Given the description of an element on the screen output the (x, y) to click on. 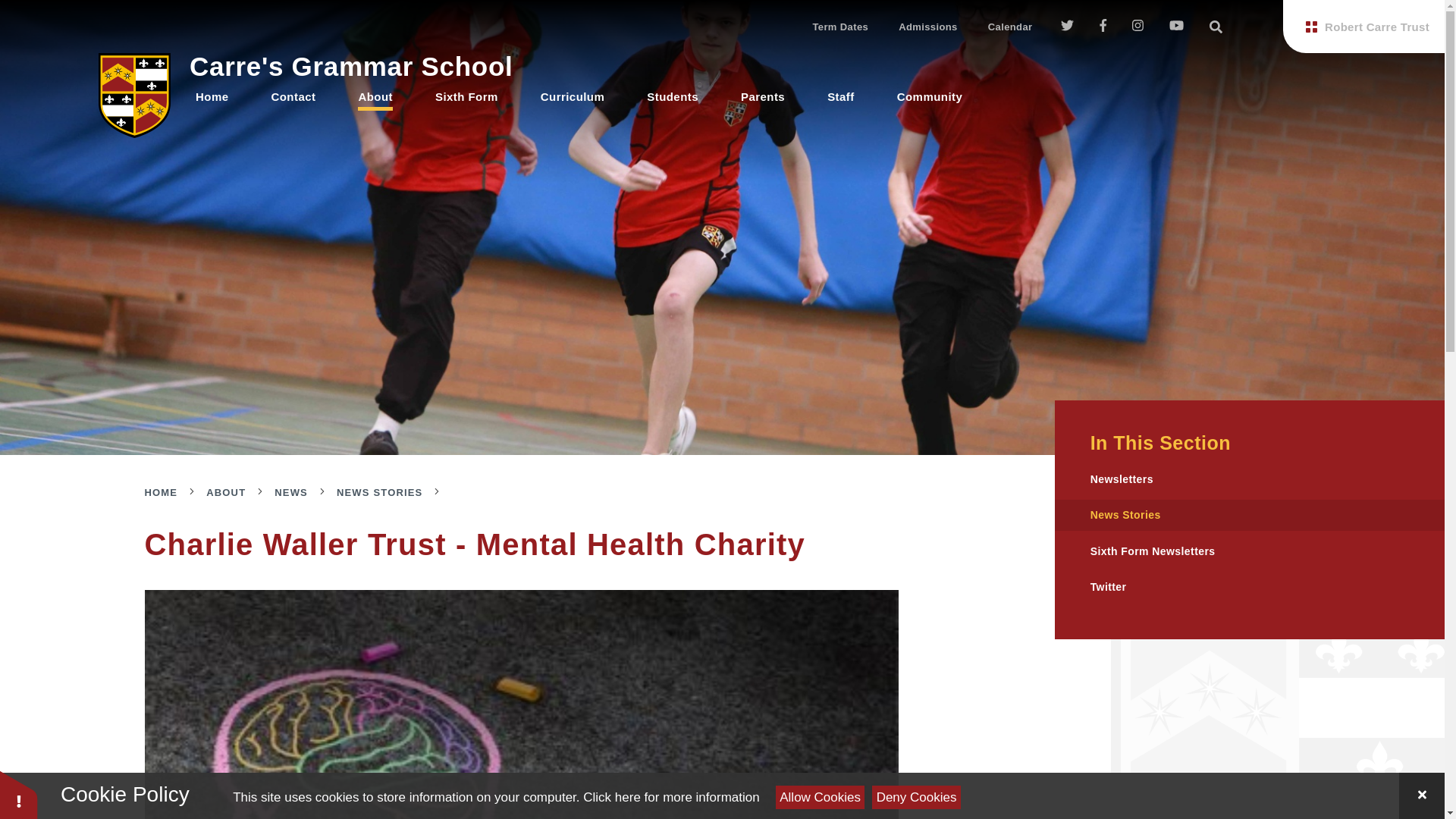
About (375, 96)
Deny Cookies (915, 797)
See cookie policy (670, 797)
Home (211, 96)
Calendar (1010, 26)
Term Dates (839, 26)
Admissions (927, 26)
Search (1216, 25)
Allow Cookies (820, 797)
Contact (293, 96)
